Given the description of an element on the screen output the (x, y) to click on. 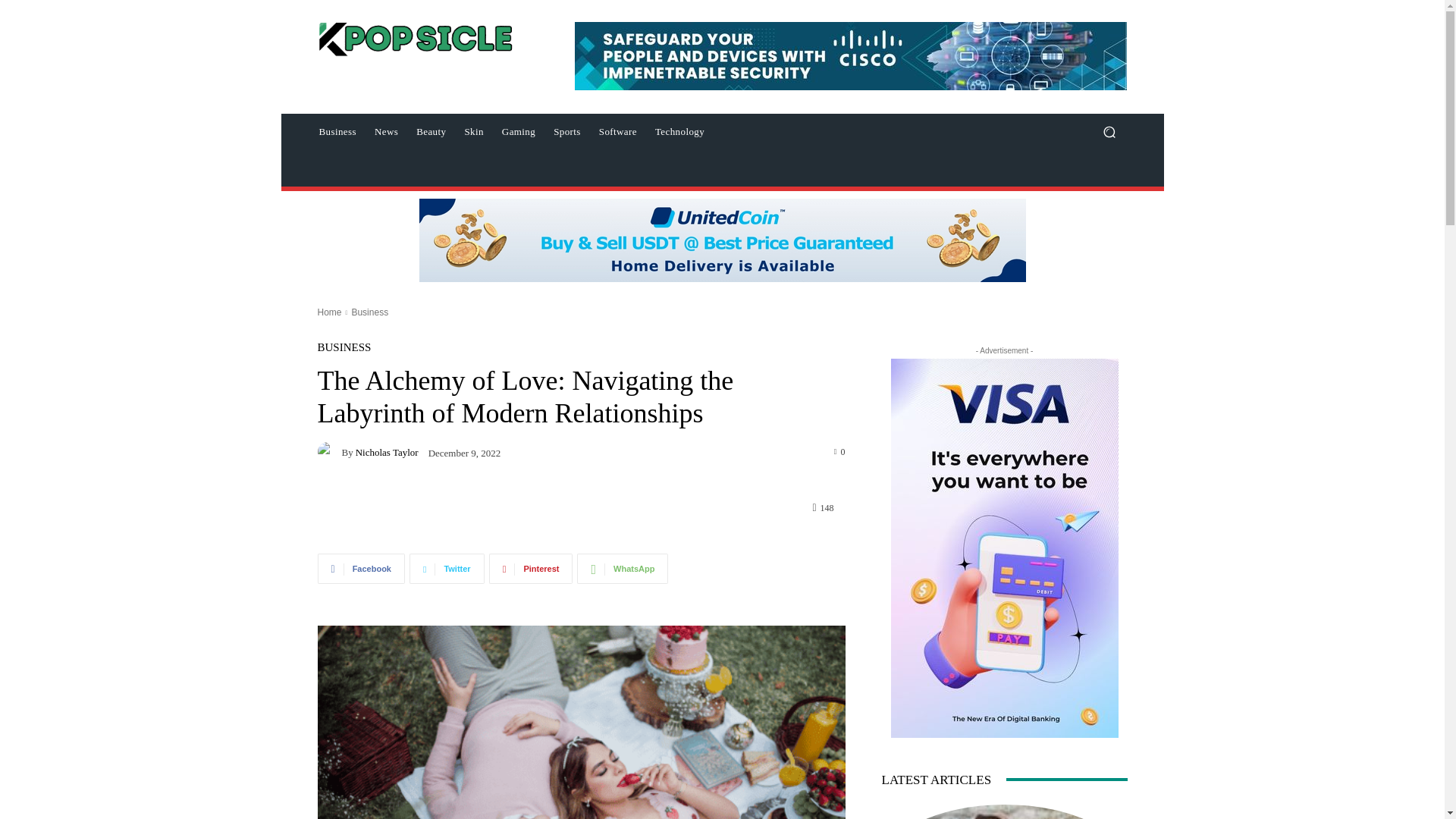
View all posts in Business (369, 312)
Sports (566, 131)
News (386, 131)
WhatsApp (622, 568)
Business (336, 131)
Twitter (446, 568)
Beauty (430, 131)
Skin (473, 131)
Gaming (518, 131)
Pinterest (531, 568)
Software (617, 131)
Home (328, 312)
Facebook (360, 568)
Technology (679, 131)
